Given the description of an element on the screen output the (x, y) to click on. 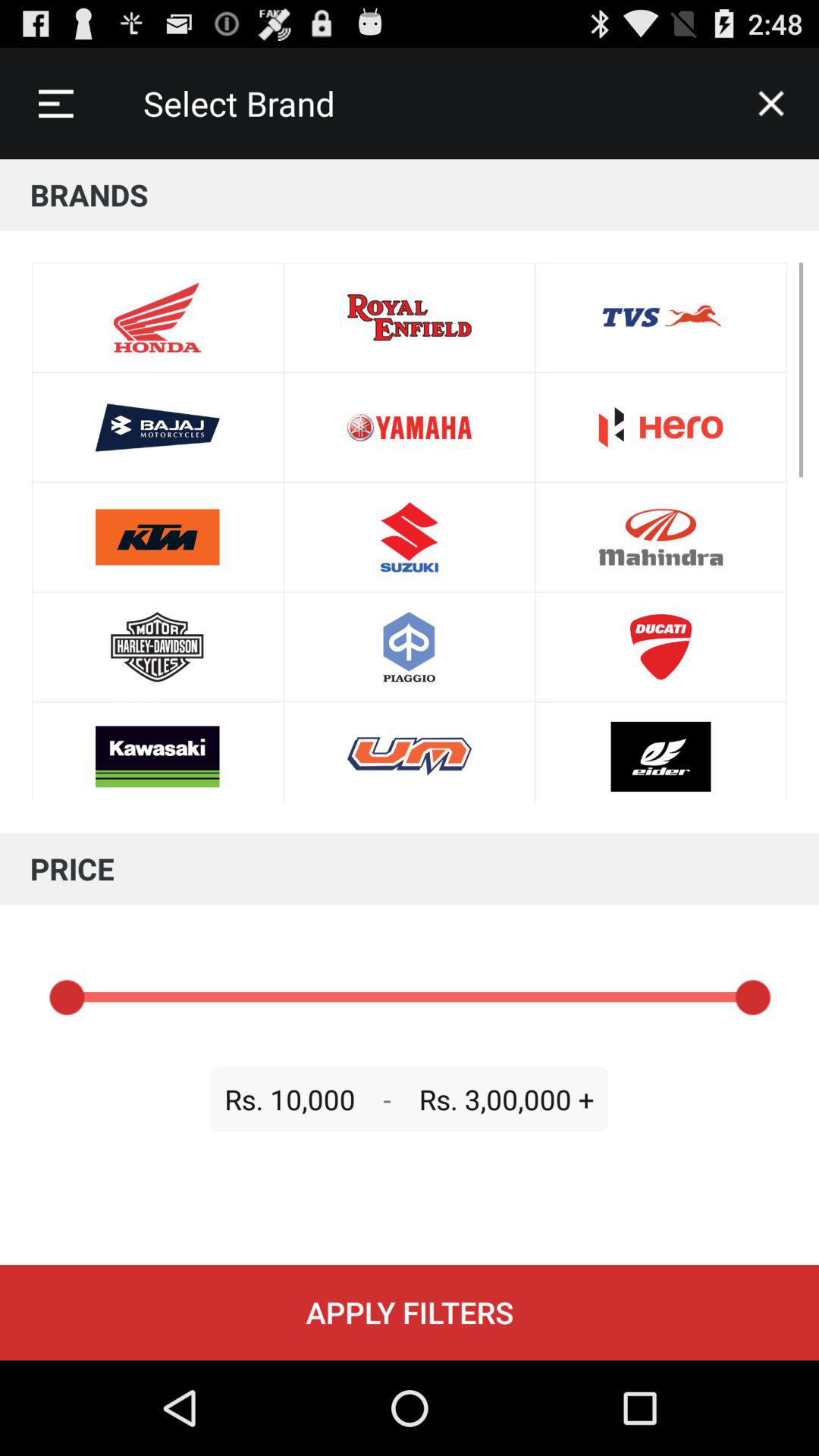
turn on the icon below rs. 10,000 item (409, 1312)
